Given the description of an element on the screen output the (x, y) to click on. 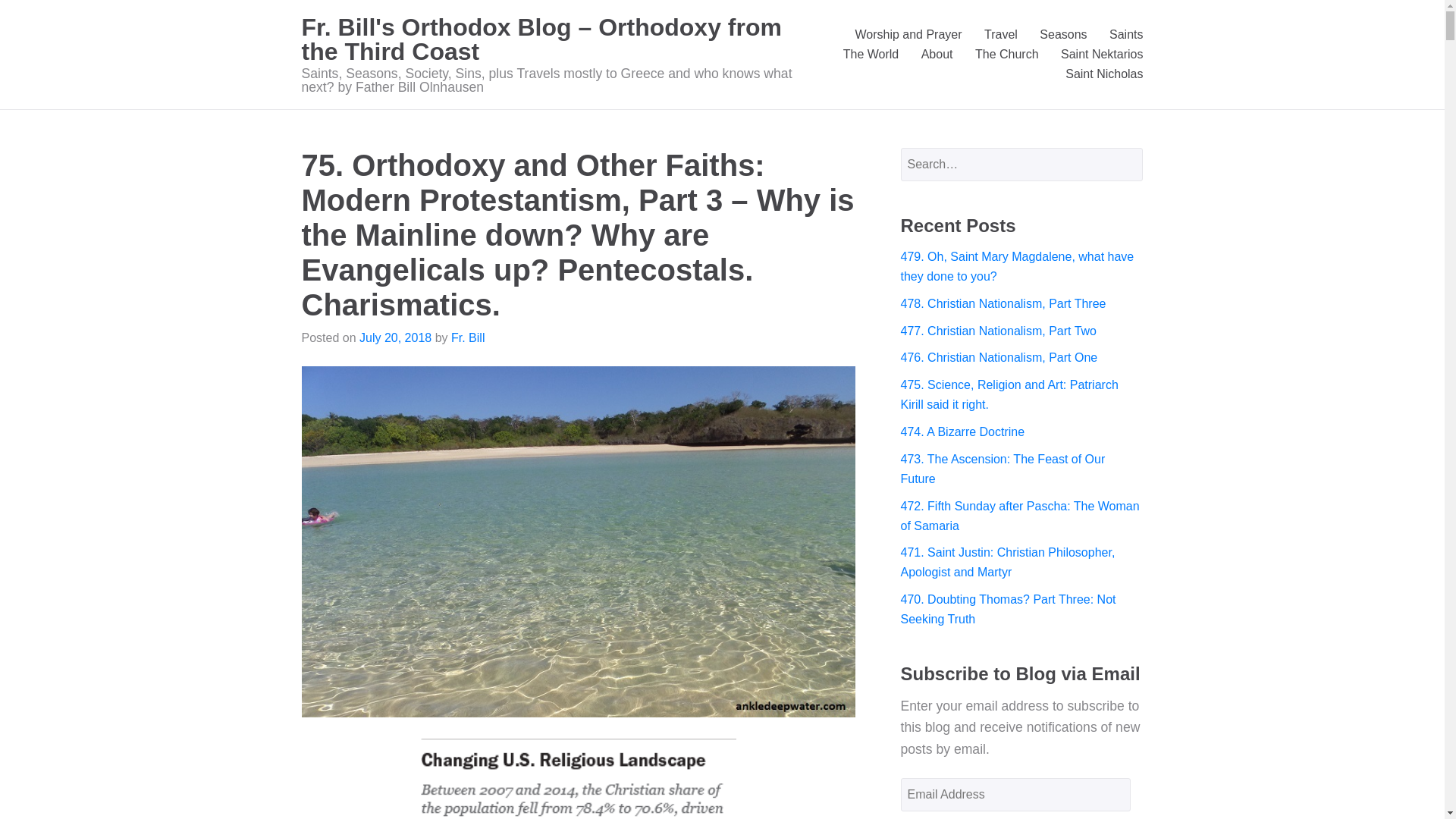
The Church (1007, 54)
Saint Nicholas (1103, 74)
July 20, 2018 (394, 337)
The World (871, 54)
About (937, 54)
Fr. Bill (467, 337)
Worship and Prayer (907, 35)
Saint Nektarios (1101, 54)
Travel (1000, 35)
Saints (1125, 35)
Seasons (1062, 35)
